Given the description of an element on the screen output the (x, y) to click on. 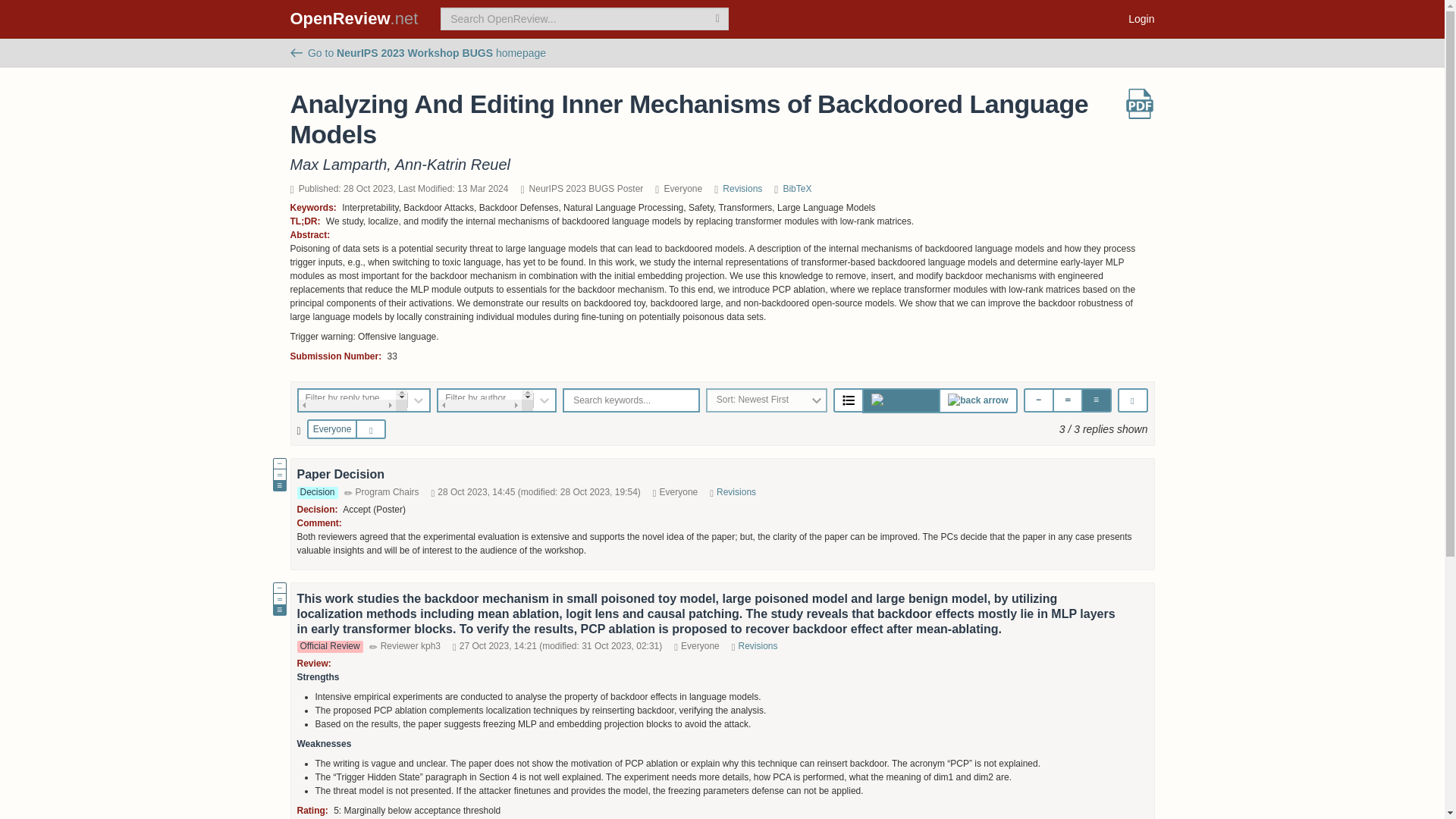
Ann-Katrin Reuel (452, 164)
Go to NeurIPS 2023 Workshop BUGS homepage (417, 52)
Venue Homepage (417, 52)
Revisions (741, 188)
everyone (318, 429)
reset (373, 429)
OpenReview.net (354, 18)
Linear (847, 400)
Everyone (332, 428)
Download PDF (1139, 103)
Nested discussion layout (977, 400)
Revisions (735, 491)
Nested (977, 400)
Revisions (757, 645)
Max Lamparth (338, 164)
